Given the description of an element on the screen output the (x, y) to click on. 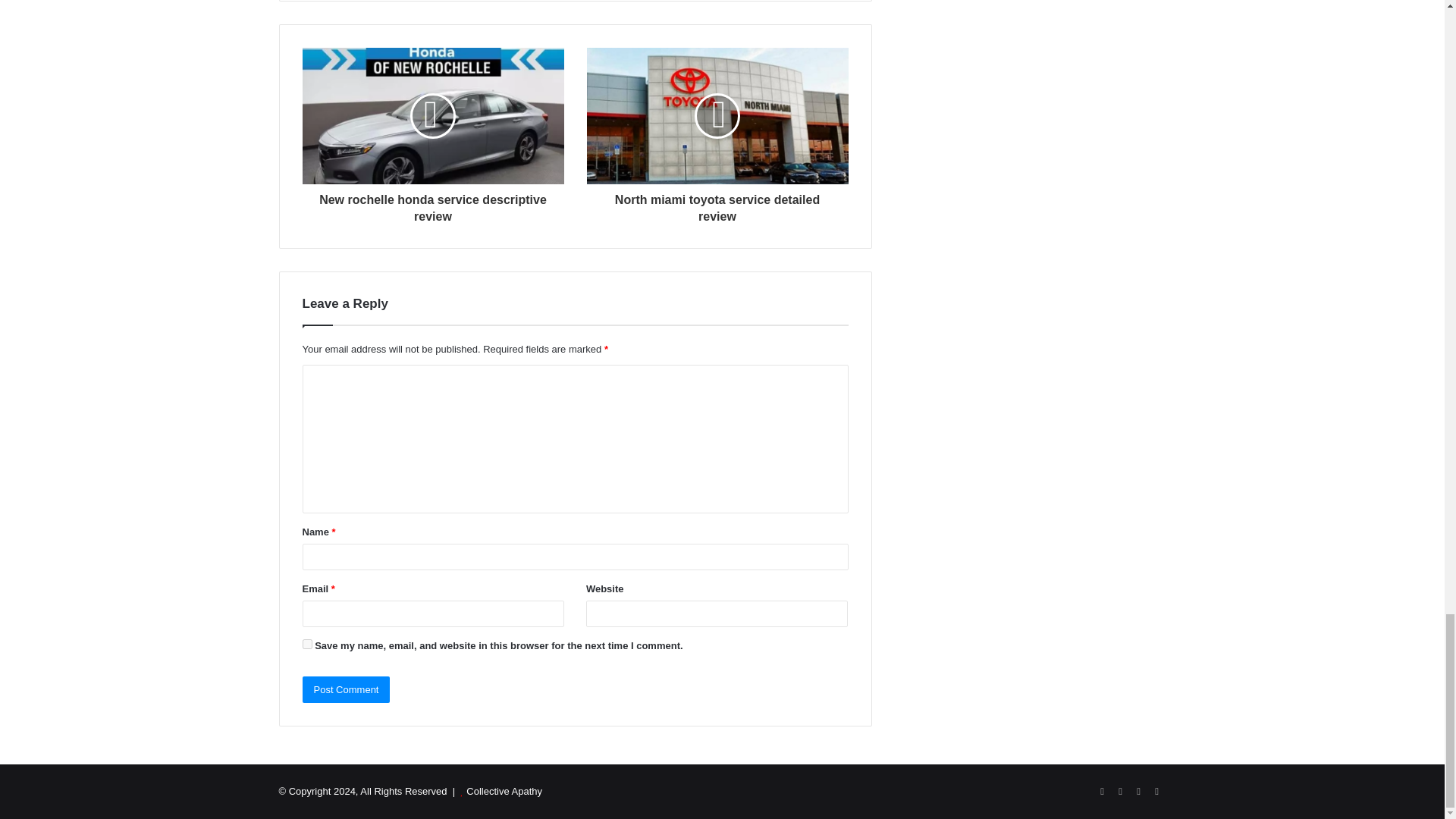
Post Comment (345, 689)
yes (306, 644)
